Given the description of an element on the screen output the (x, y) to click on. 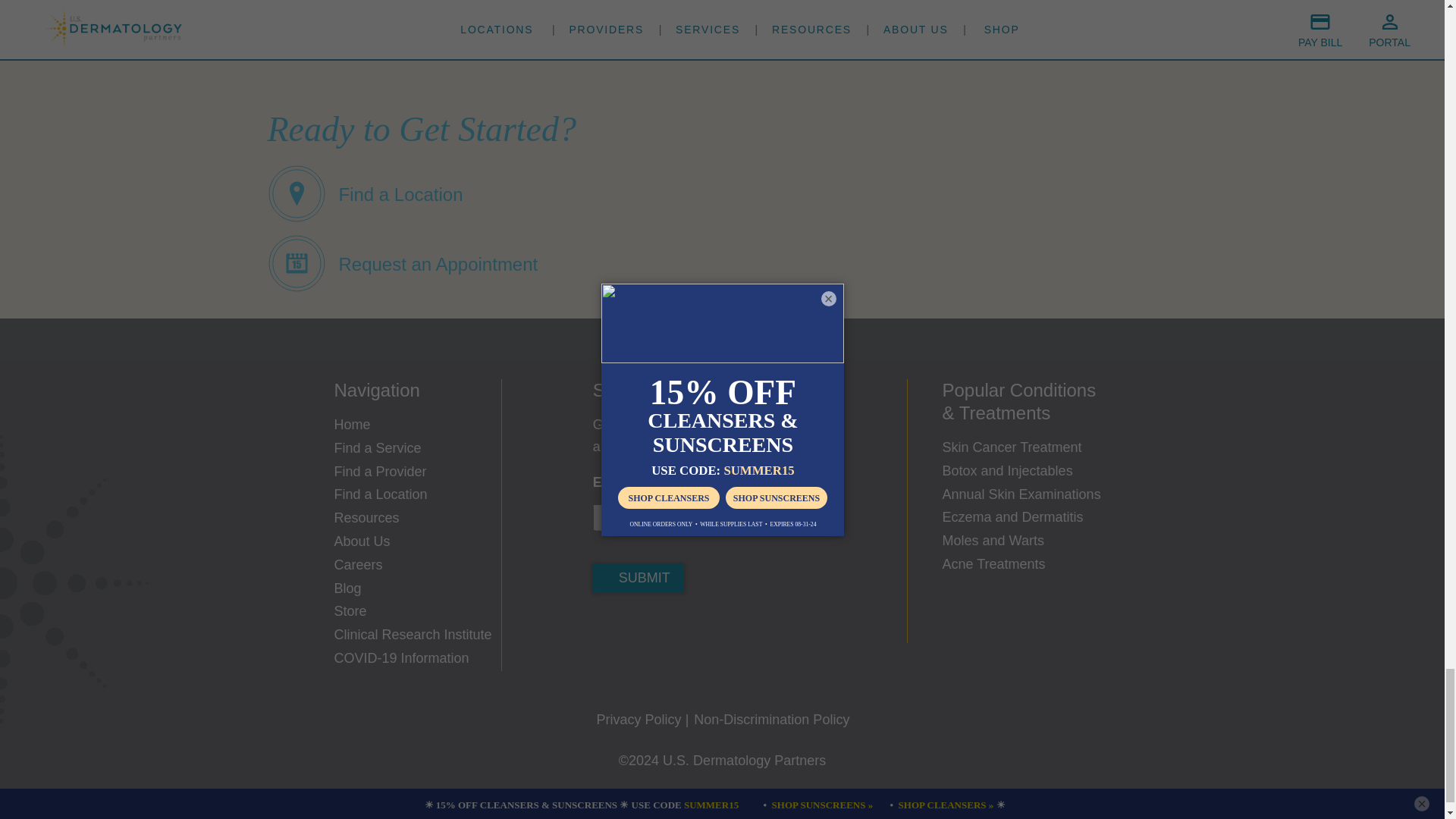
Follow us on Twitter (655, 627)
Follow us on YouTube (745, 627)
Follow us on Instagram (700, 627)
Follow us on Facebook (609, 627)
Request an Appointment (401, 262)
Submit (638, 578)
Find a Location (364, 192)
